Given the description of an element on the screen output the (x, y) to click on. 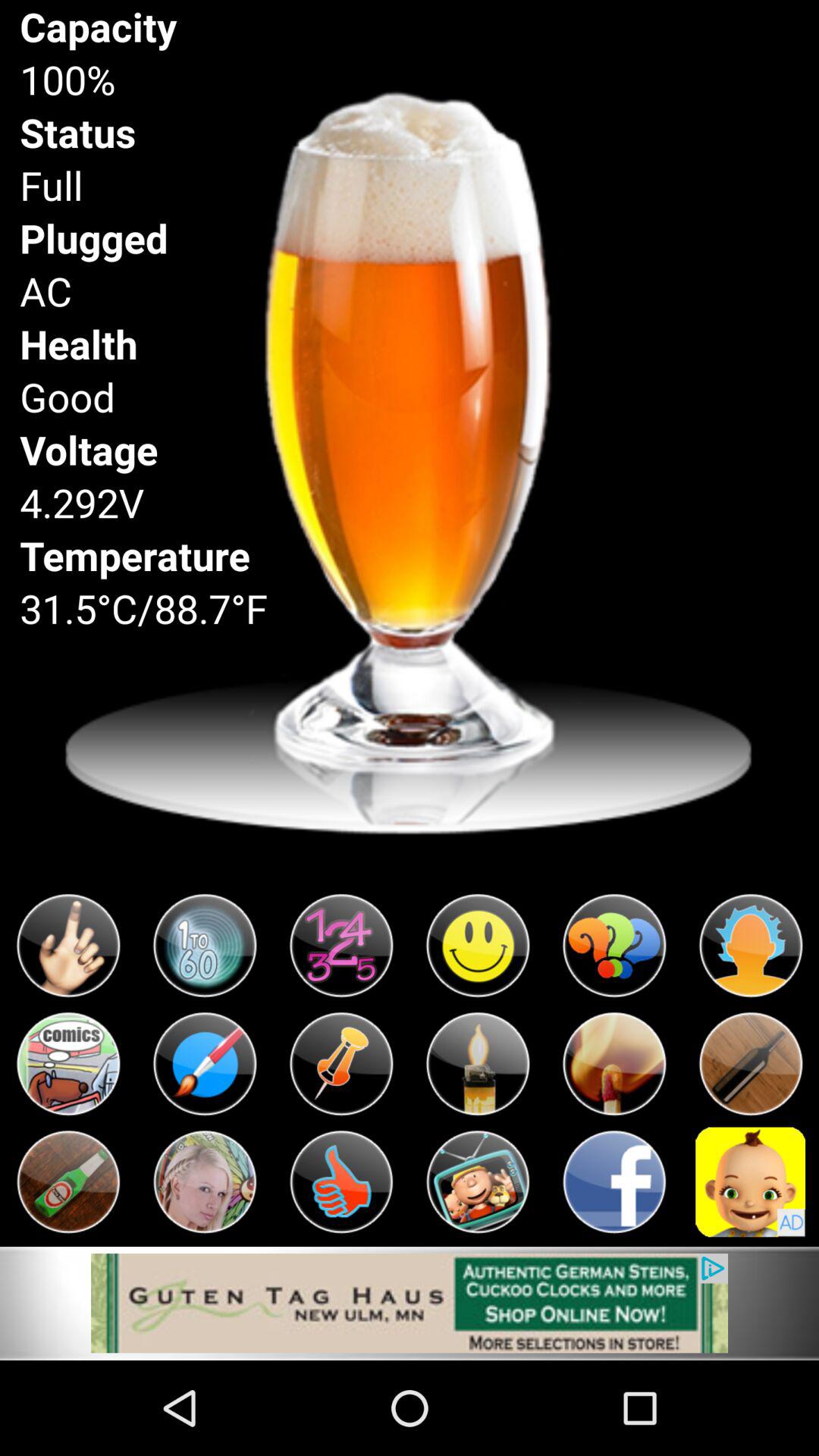
go to play (477, 1063)
